Given the description of an element on the screen output the (x, y) to click on. 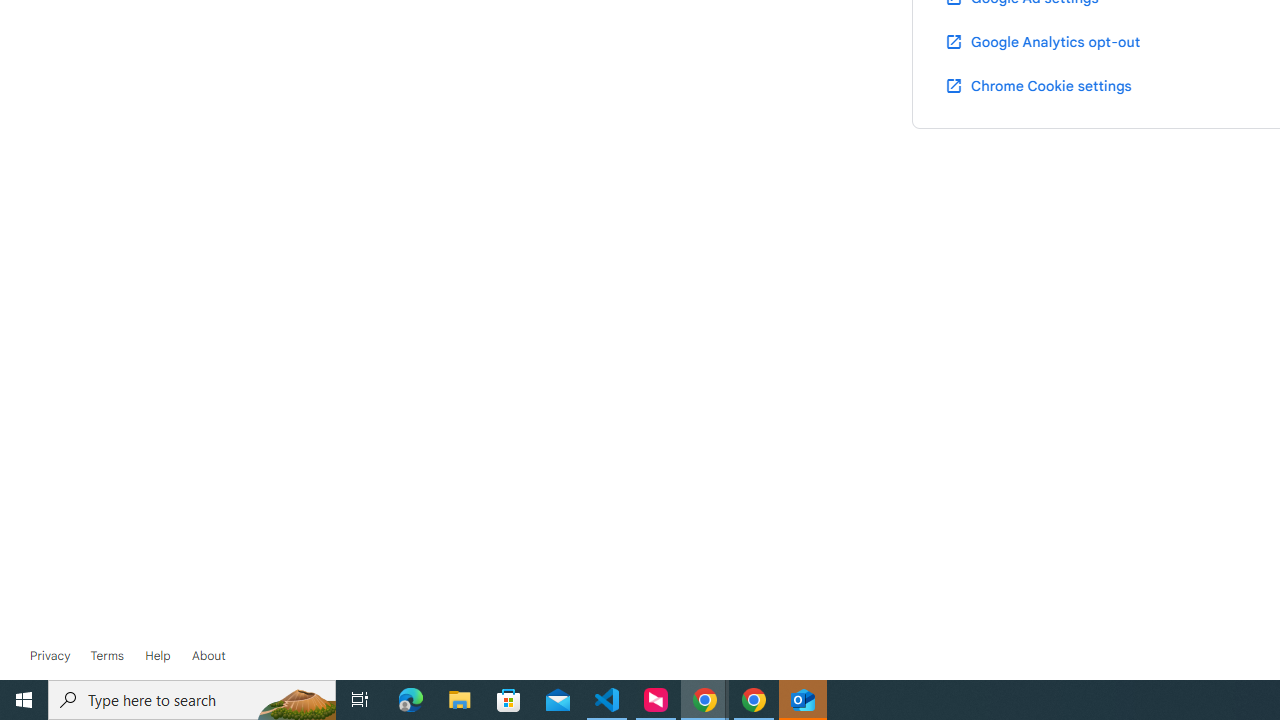
Chrome Cookie settings (1037, 85)
Learn more about Google Account (208, 655)
Google Analytics opt-out (1041, 41)
